Given the description of an element on the screen output the (x, y) to click on. 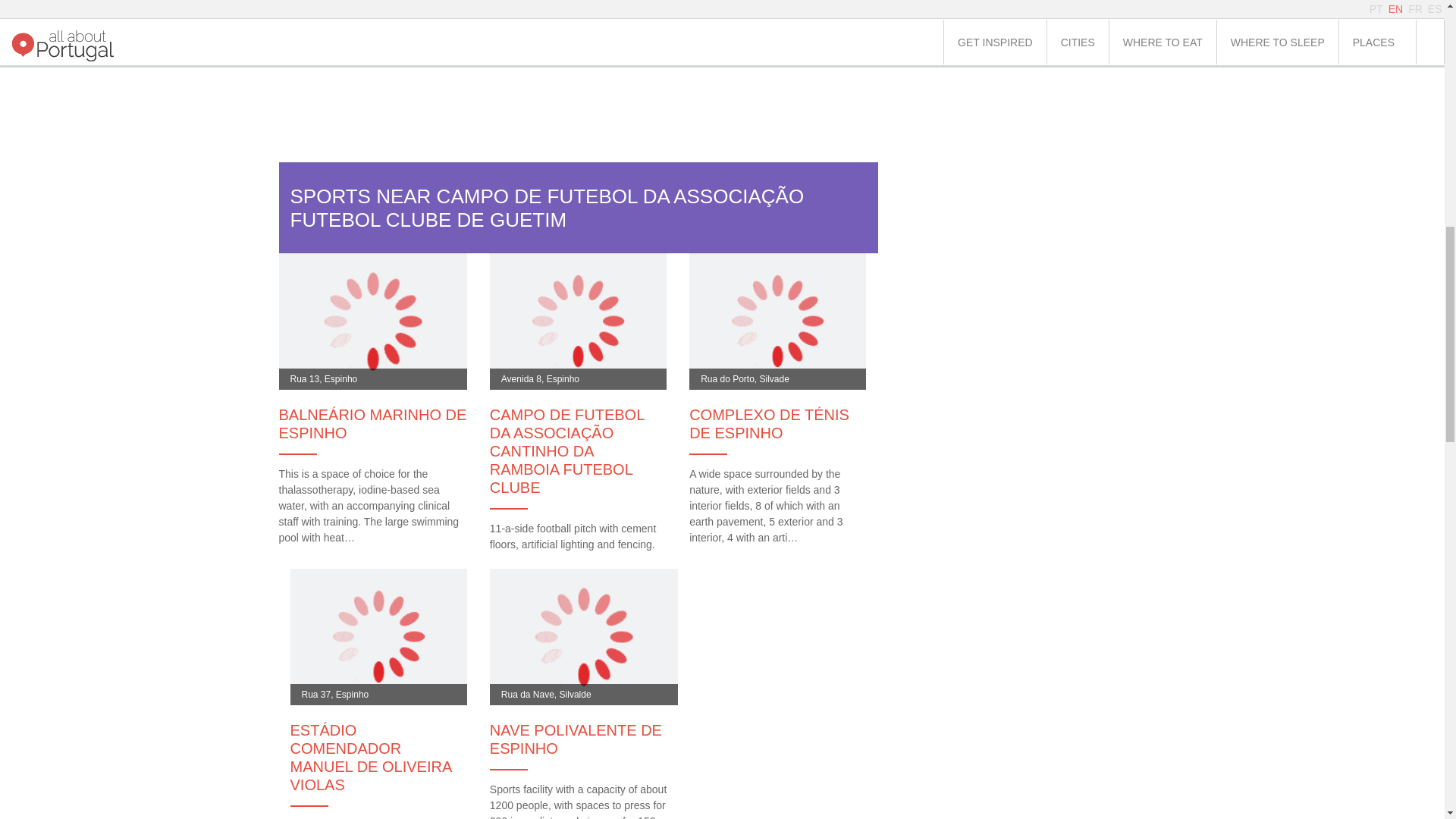
Rua 37, Espinho (377, 635)
Rua 13, Espinho (373, 319)
Rua do Porto, Silvade (777, 319)
Avenida 8, Espinho (577, 319)
